Given the description of an element on the screen output the (x, y) to click on. 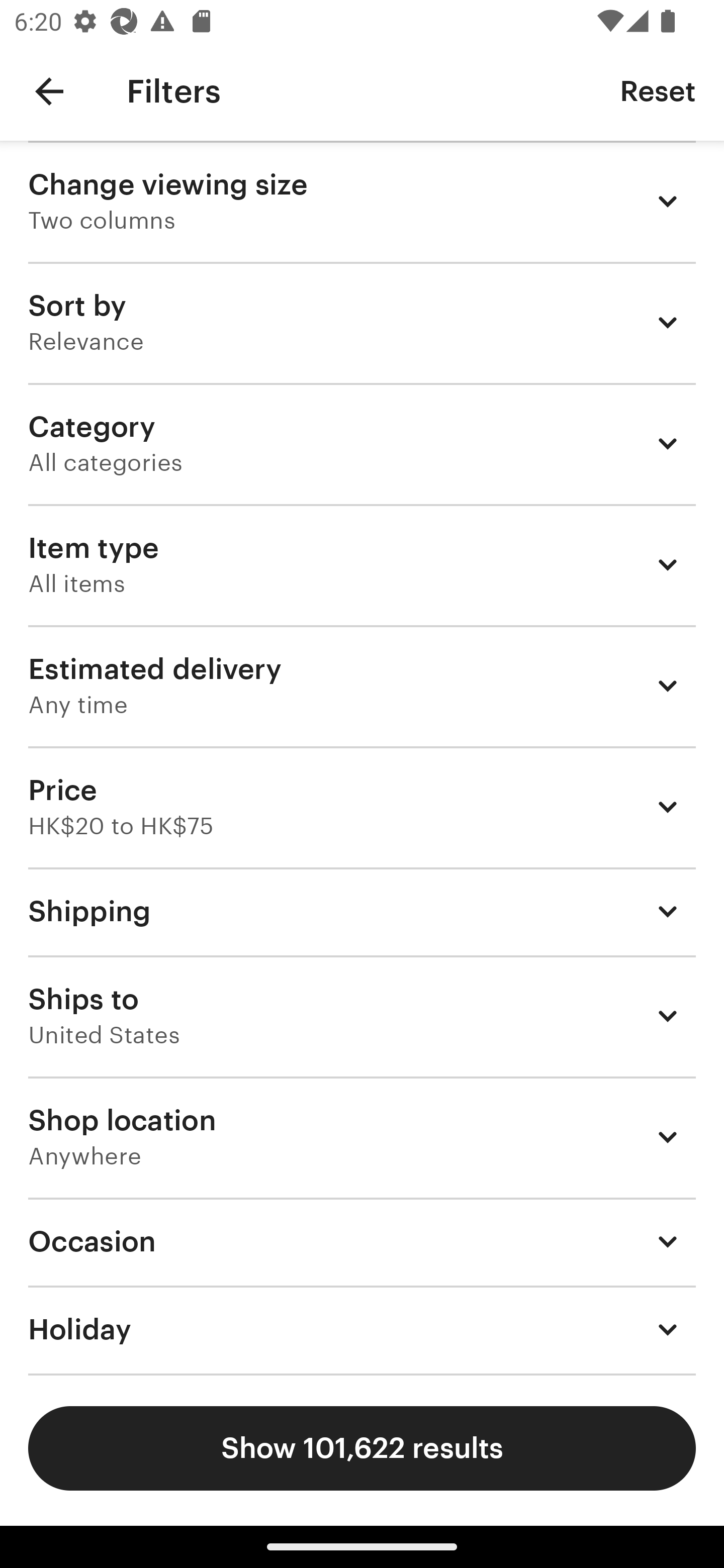
Navigate up (49, 91)
Reset (657, 90)
Change viewing size Two columns (362, 201)
Sort by Relevance (362, 321)
Category All categories (362, 442)
Item type All items (362, 564)
Estimated delivery Any time (362, 685)
Price HK$20 to HK$75 (362, 806)
Shipping (362, 910)
Ships to United States (362, 1015)
Shop location Anywhere (362, 1137)
Occasion (362, 1241)
Holiday (362, 1329)
Show 101,622 results Show results (361, 1448)
